Given the description of an element on the screen output the (x, y) to click on. 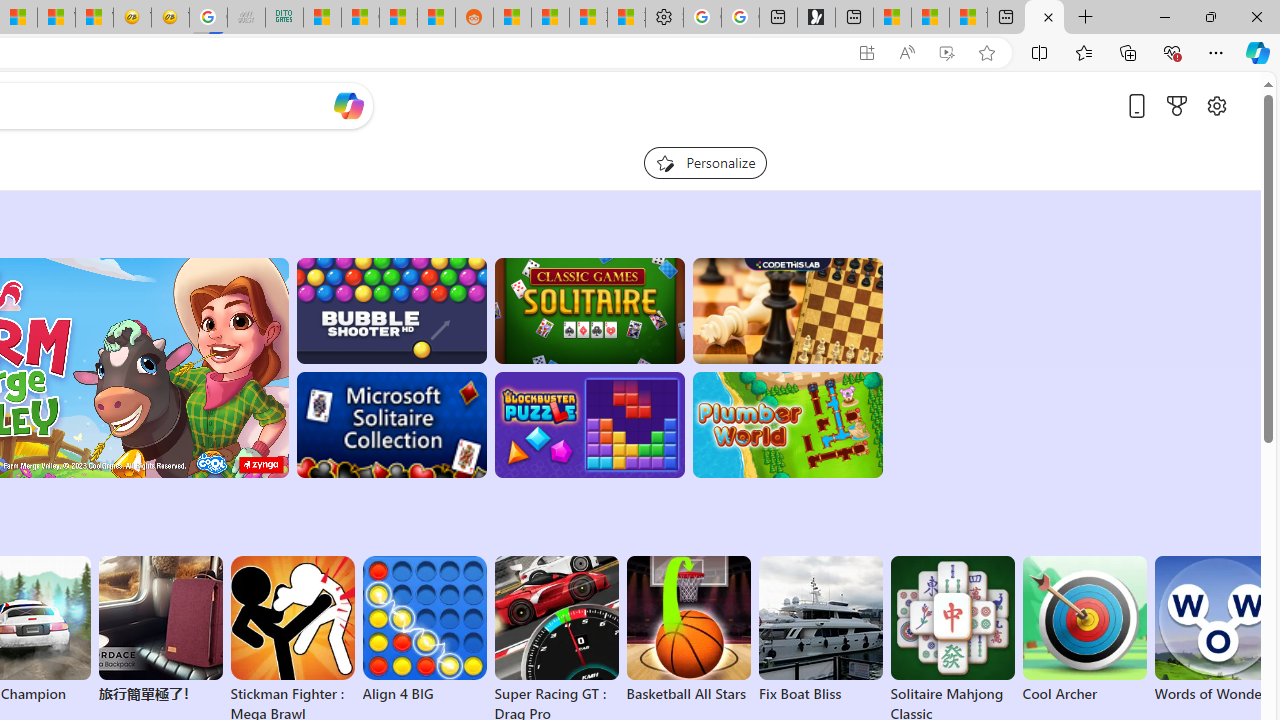
Plumber World (787, 425)
Stocks - MSN (398, 17)
Microsoft Start Gaming (815, 17)
Microsoft rewards (1176, 105)
Basketball All Stars (688, 629)
